Given the description of an element on the screen output the (x, y) to click on. 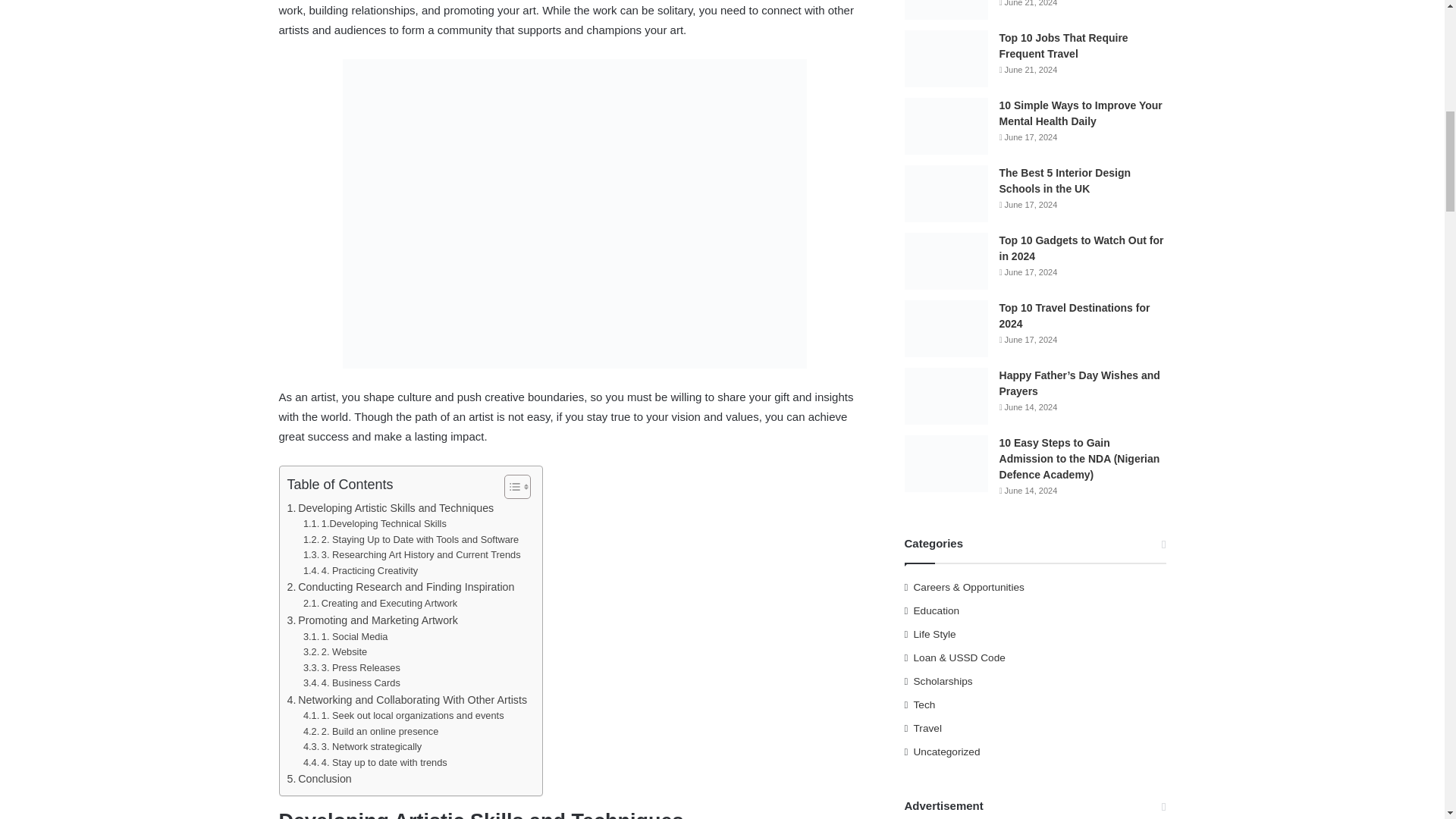
Creating and Executing Artwork (379, 603)
3. Researching Art History and Current Trends (411, 555)
Promoting and Marketing Artwork (371, 620)
1.Developing Technical Skills (374, 524)
1. Seek out local organizations and events (402, 715)
4. Business Cards (351, 683)
1. Social Media (345, 637)
Conducting Research and Finding Inspiration (399, 587)
2. Website (334, 652)
2. Build an online presence (370, 731)
Creating and Executing Artwork (379, 603)
1.Developing Technical Skills (374, 524)
2. Staying Up to Date with Tools and Software (410, 539)
3. Network strategically (362, 747)
Networking and Collaborating With Other Artists (406, 700)
